Given the description of an element on the screen output the (x, y) to click on. 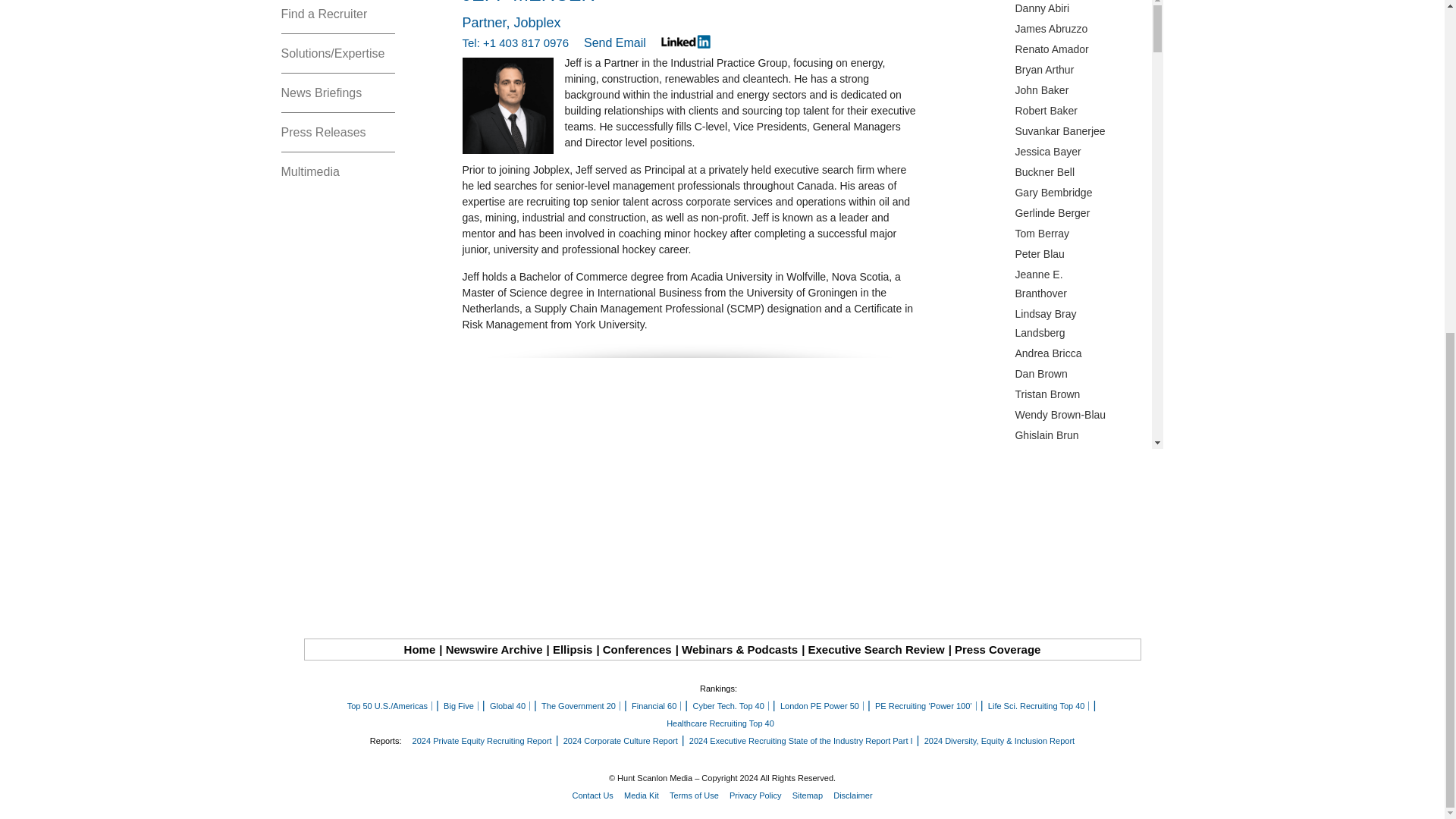
Tristan Brown (1081, 394)
Renato Amador (1081, 49)
Danny Abiri (1081, 9)
Dwain Celistan (1081, 556)
Peter Blau (1081, 253)
News Briefings (337, 93)
Jessica Bayer (1081, 151)
Tom Berray (1081, 233)
Robert Baker (1081, 110)
Bryan Arthur (1081, 69)
